Given the description of an element on the screen output the (x, y) to click on. 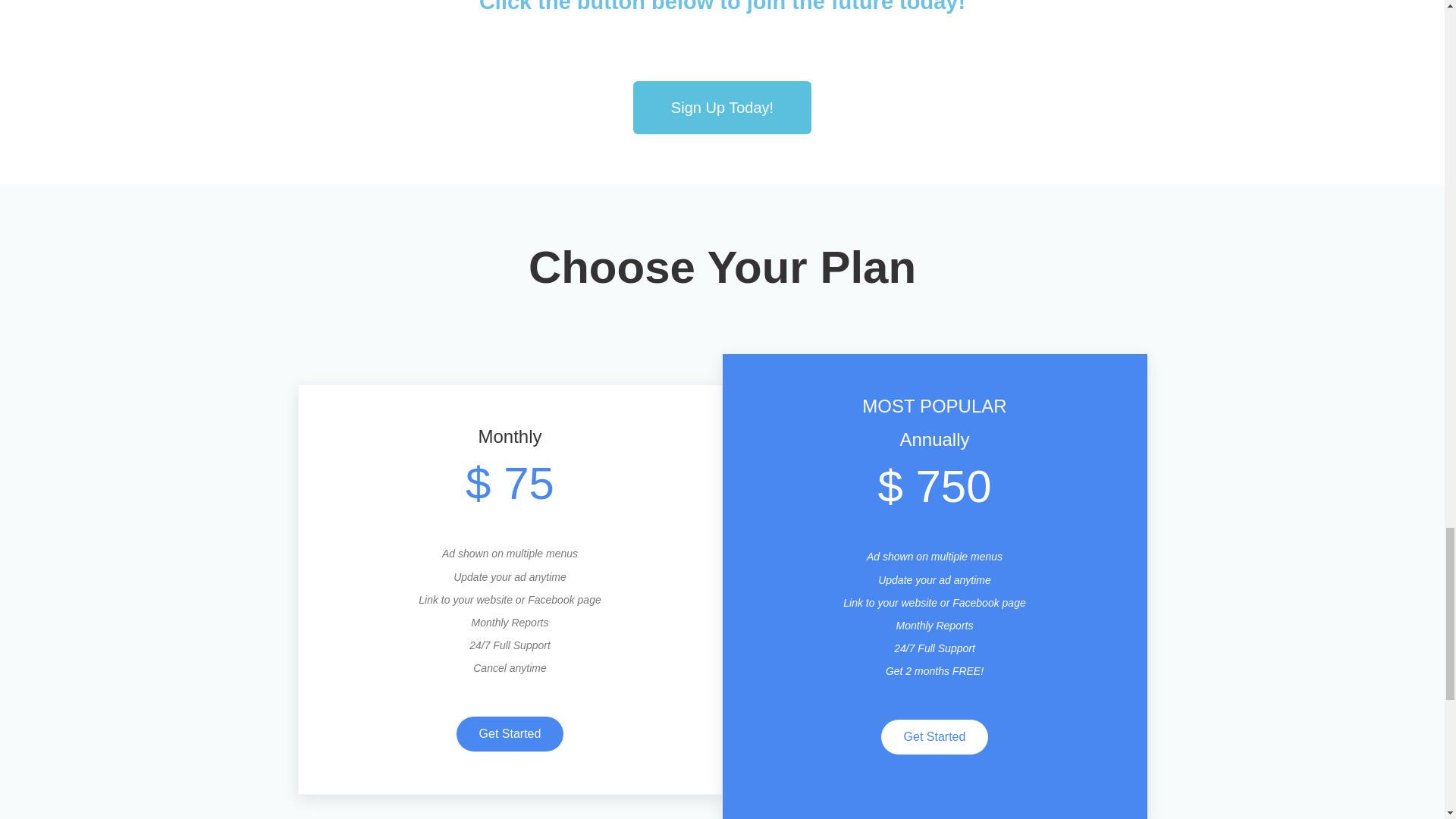
Sign Up Today! (721, 107)
Get Started (934, 736)
Get Started (510, 733)
